Given the description of an element on the screen output the (x, y) to click on. 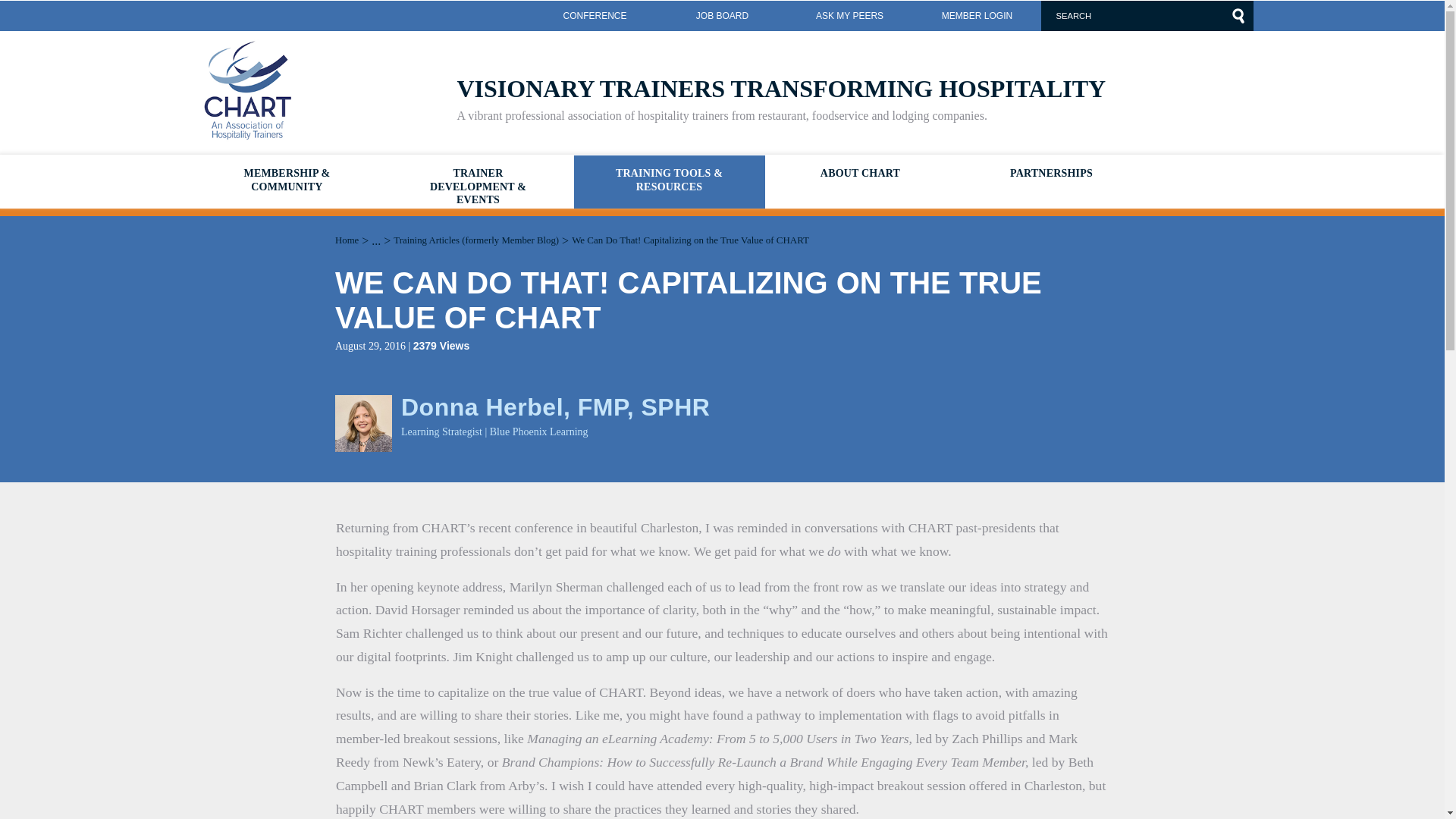
sisea.search (1237, 15)
MEMBER LOGIN (976, 15)
CONFERENCE (594, 15)
sisea.search (1237, 15)
JOB BOARD (722, 15)
ASK MY PEERS (849, 15)
sisea.search (1237, 15)
